Given the description of an element on the screen output the (x, y) to click on. 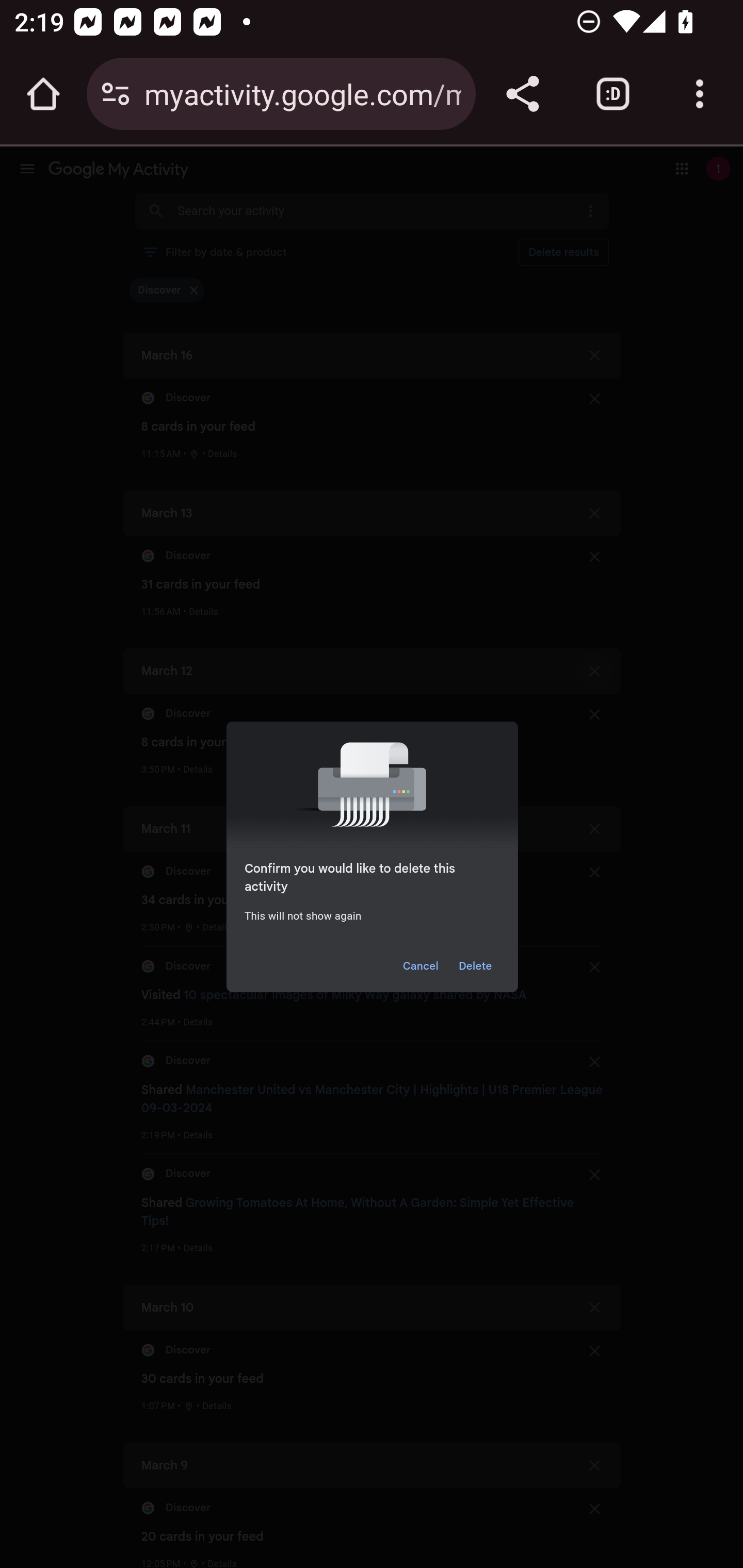
Open the home page (43, 93)
Connection is secure (115, 93)
Share (522, 93)
Switch or close tabs (612, 93)
Customize and control Google Chrome (699, 93)
myactivity.google.com/myactivity?product=50 (302, 92)
Cancel (420, 965)
Delete (475, 965)
